Given the description of an element on the screen output the (x, y) to click on. 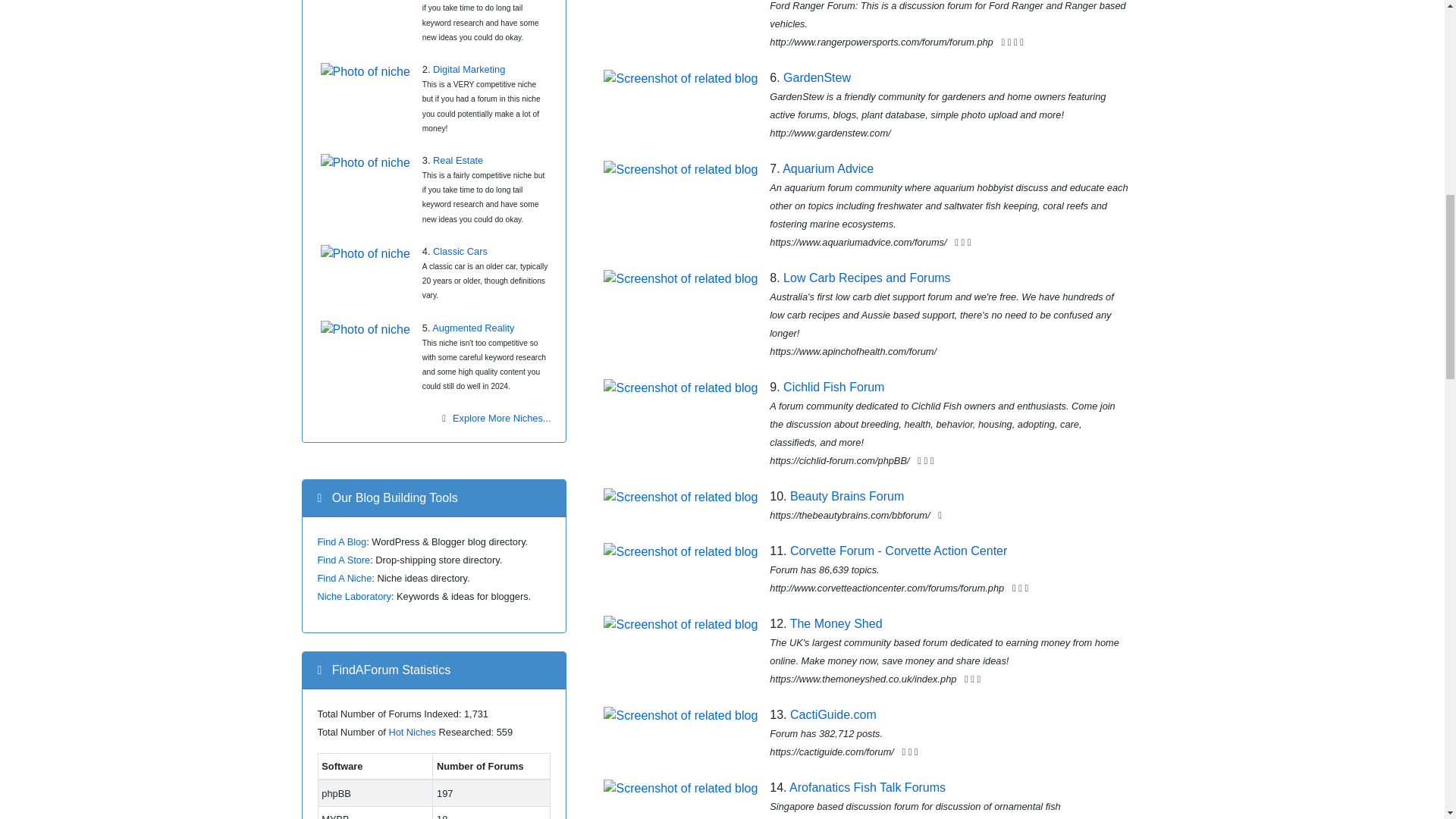
Classic Cars (459, 251)
Augmented Reality (472, 327)
Digital Marketing (468, 69)
Real Estate (457, 160)
